Given the description of an element on the screen output the (x, y) to click on. 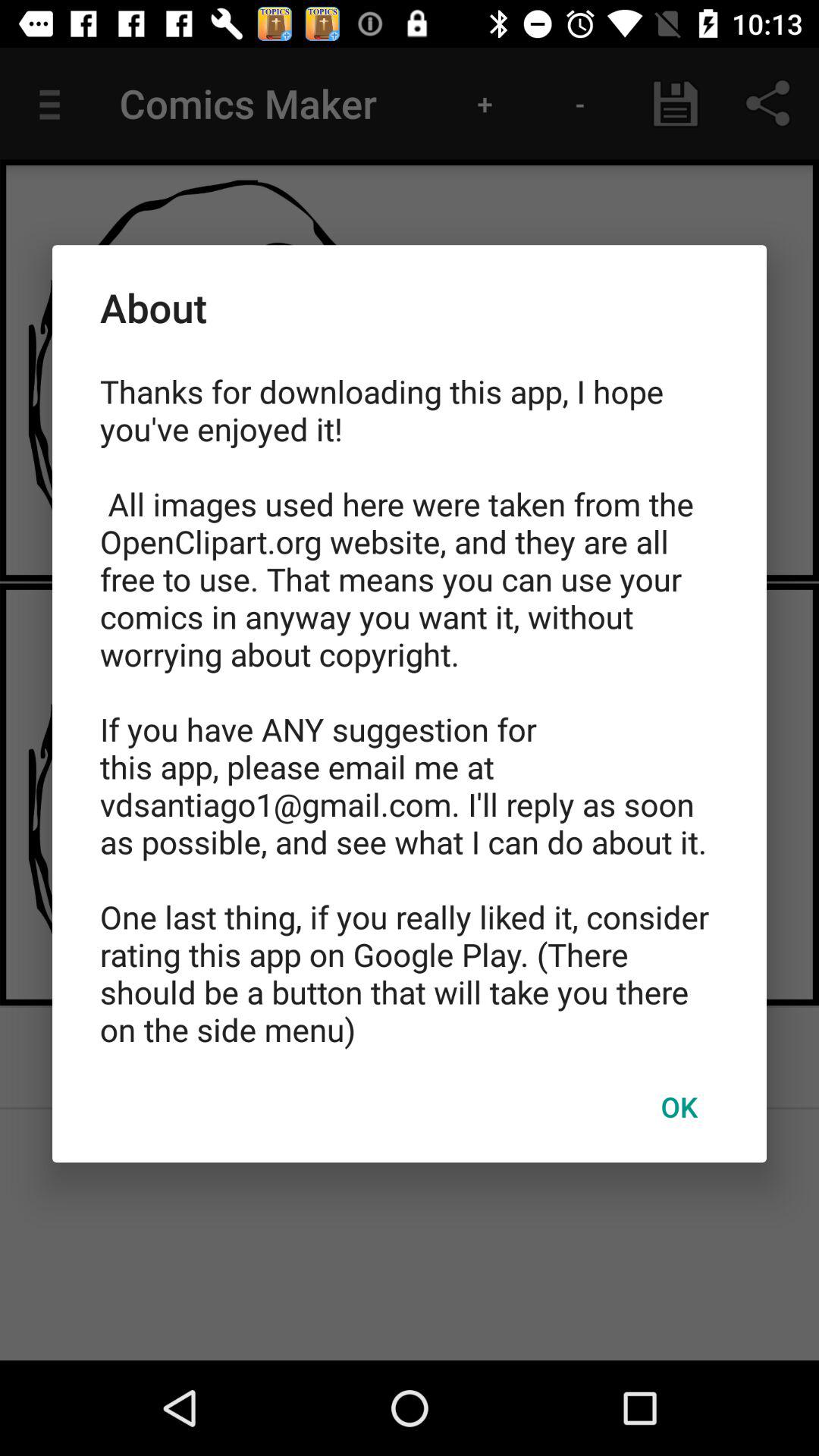
tap item below the thanks for downloading (678, 1106)
